Given the description of an element on the screen output the (x, y) to click on. 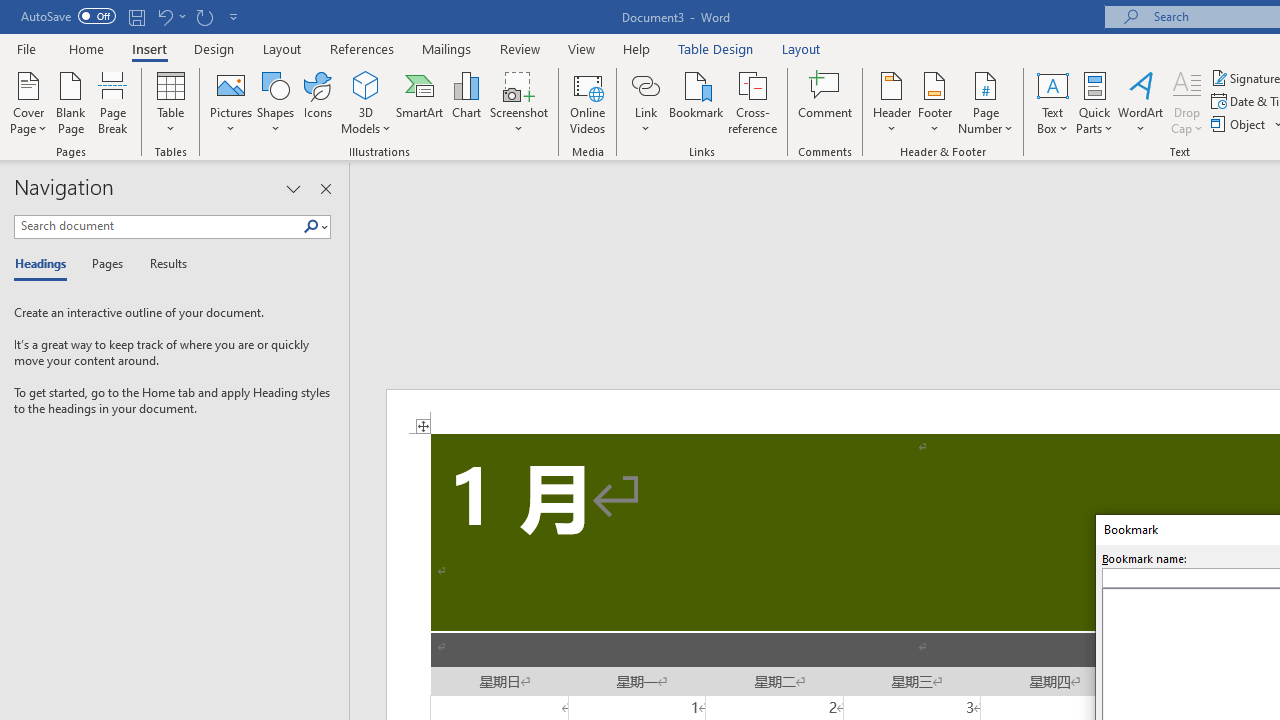
WordArt (1141, 102)
3D Models (366, 102)
Repeat Doc Close (204, 15)
Table (170, 102)
Table Design (715, 48)
Footer (934, 102)
Cross-reference... (752, 102)
Drop Cap (1187, 102)
Design (214, 48)
Task Pane Options (293, 188)
